Given the description of an element on the screen output the (x, y) to click on. 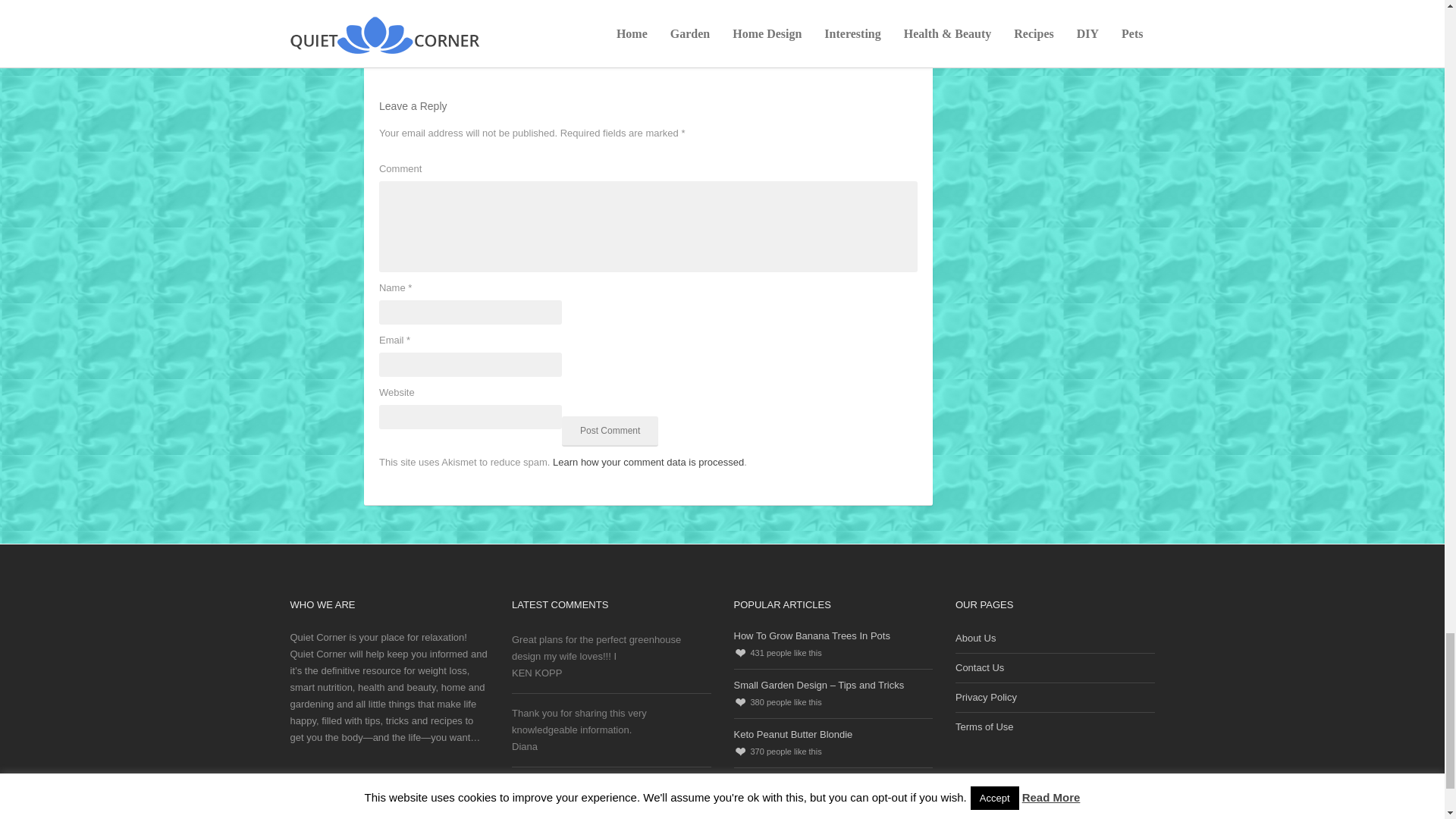
Post Comment (610, 431)
